Given the description of an element on the screen output the (x, y) to click on. 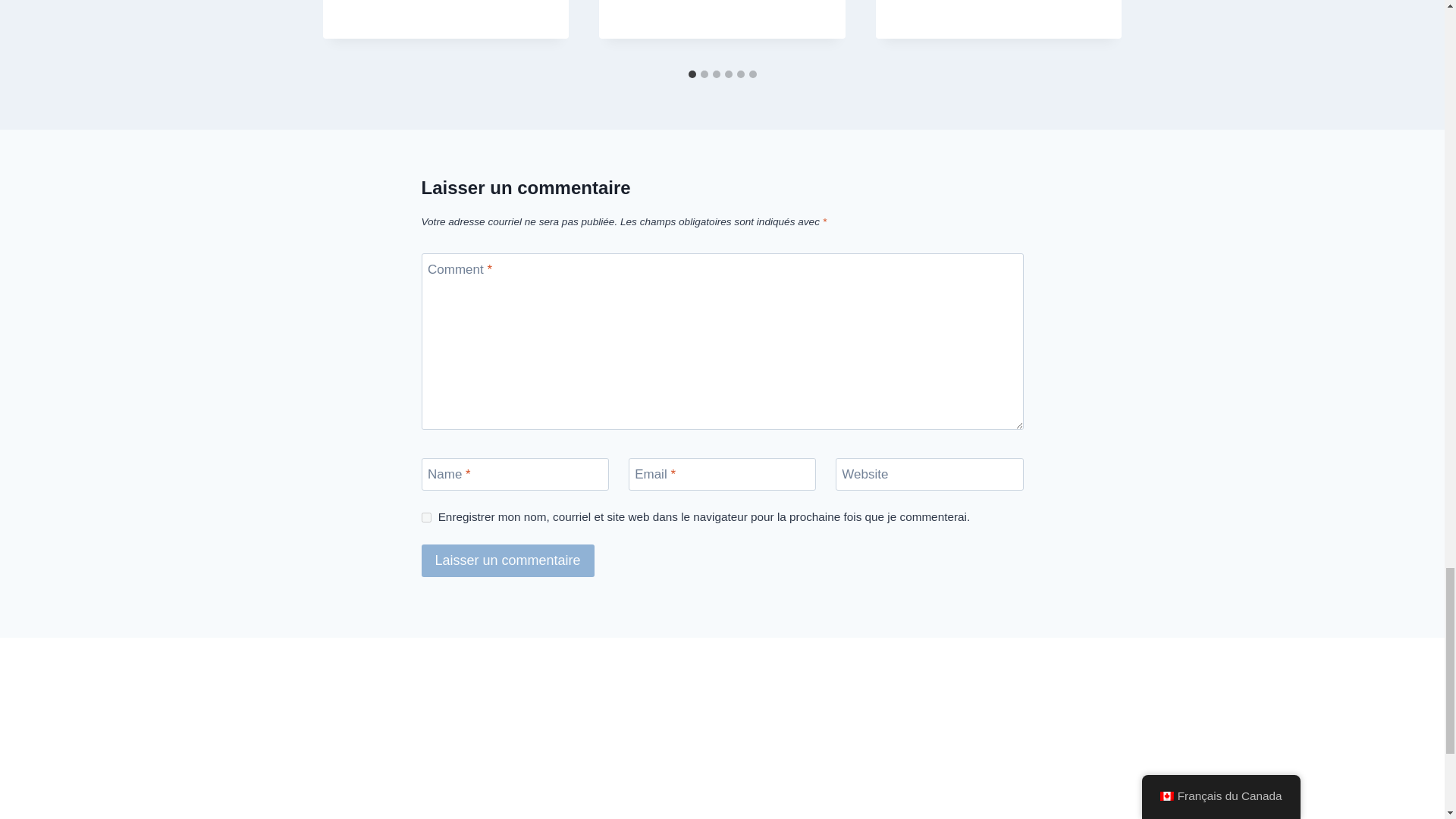
yes (426, 517)
Laisser un commentaire (508, 560)
